Given the description of an element on the screen output the (x, y) to click on. 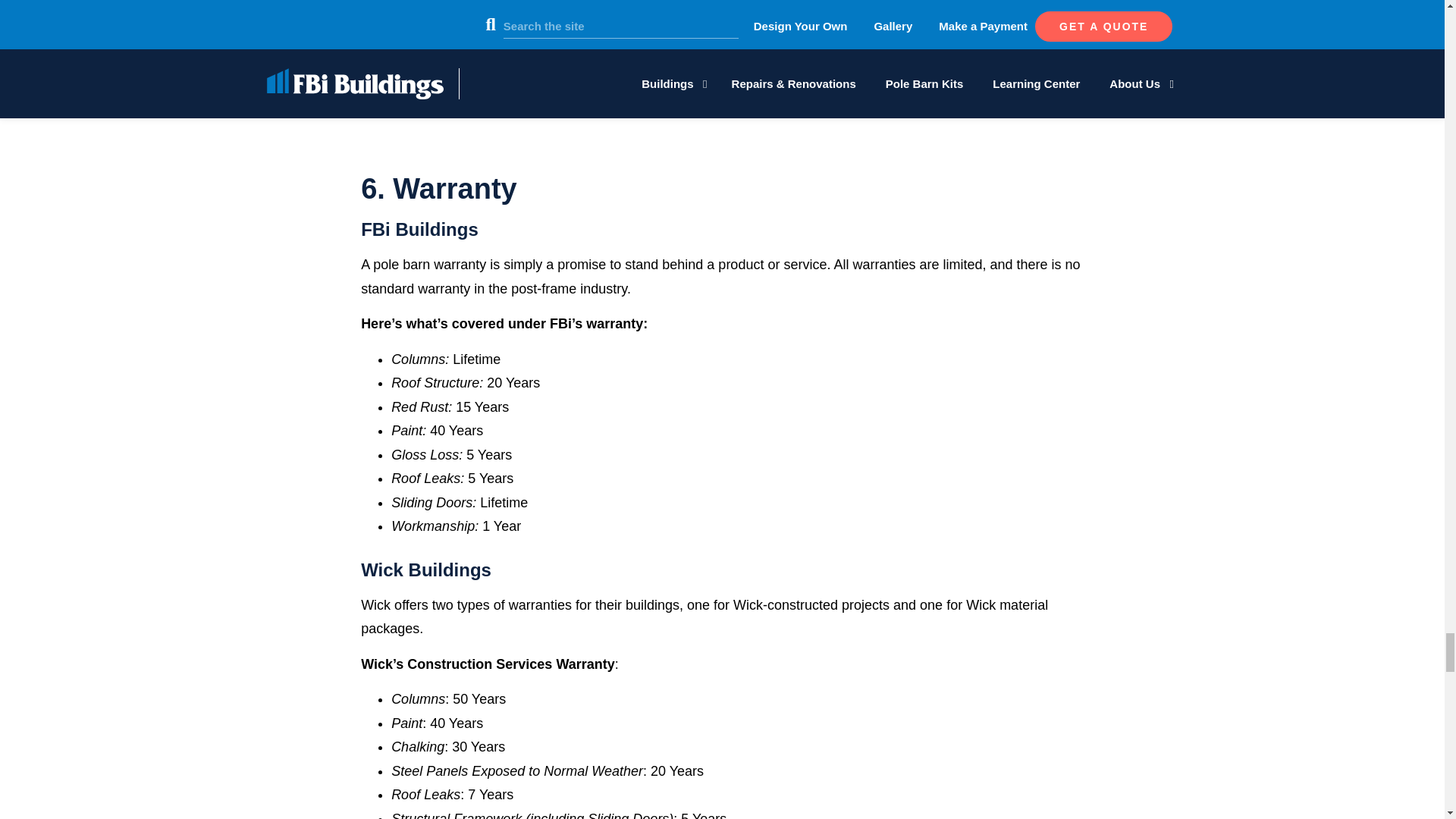
QLYFT Building System (722, 77)
